Given the description of an element on the screen output the (x, y) to click on. 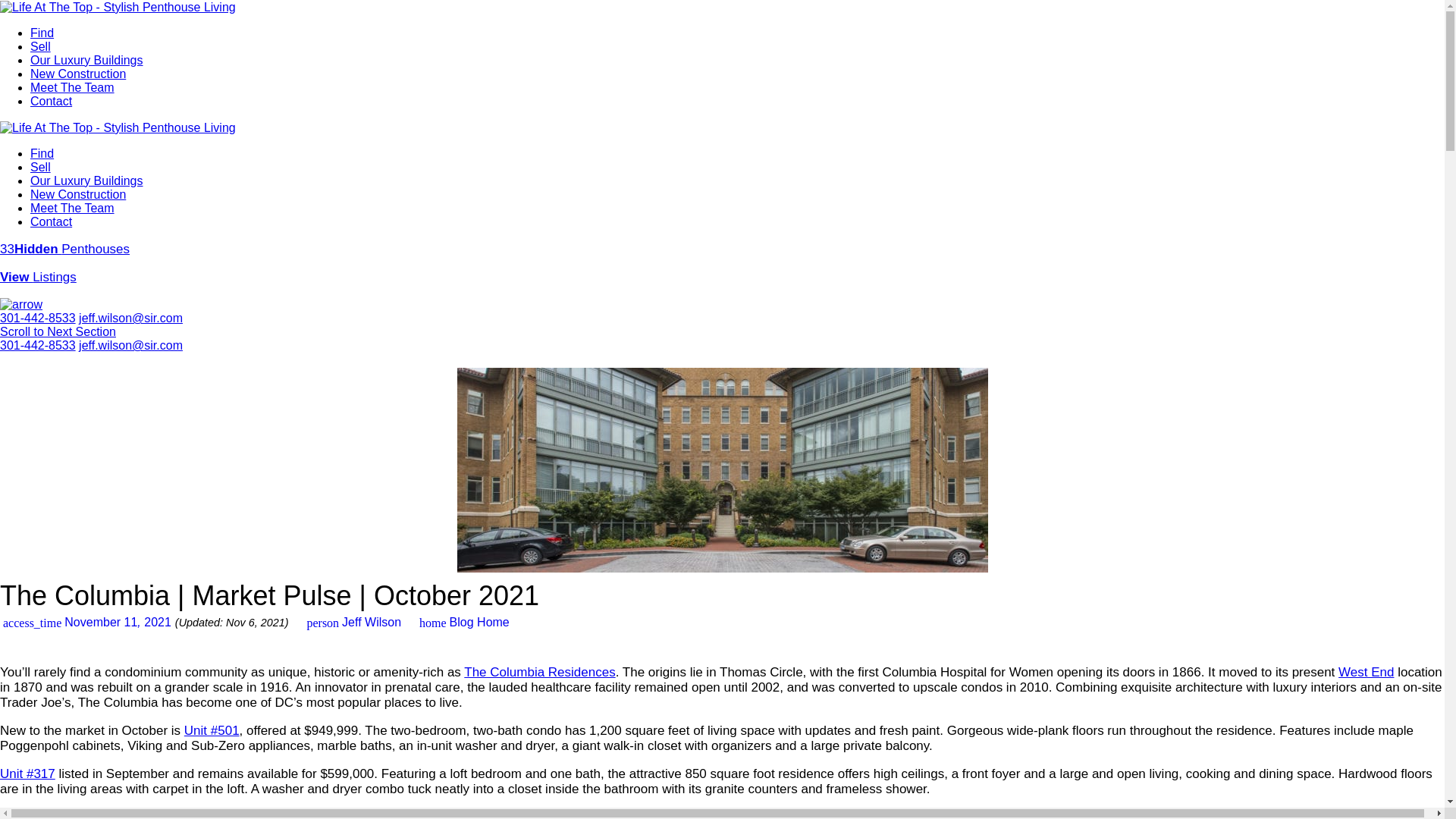
West End (1365, 672)
Scroll to Next Section (58, 331)
Contact (50, 221)
View all posts by Jeff Wilson (351, 621)
Meet The Team (72, 207)
Contact (50, 101)
personJeff Wilson (351, 621)
301-442-8533 (37, 345)
Find (41, 153)
New Construction (77, 73)
Meet The Team (72, 87)
New Construction (77, 194)
Our Luxury Buildings (86, 60)
Our Luxury Buildings (86, 180)
